Given the description of an element on the screen output the (x, y) to click on. 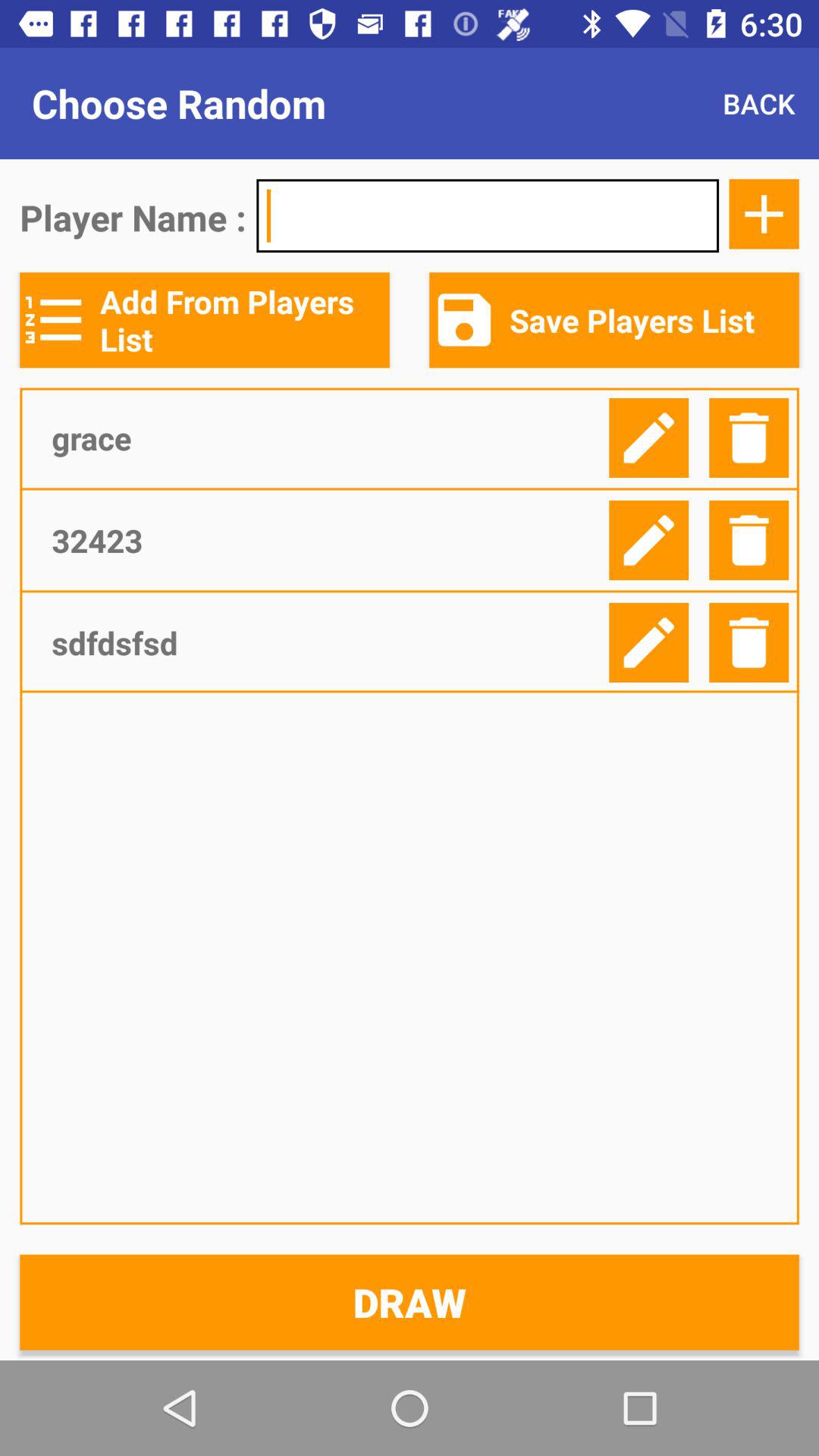
flip until 32423 icon (324, 539)
